Given the description of an element on the screen output the (x, y) to click on. 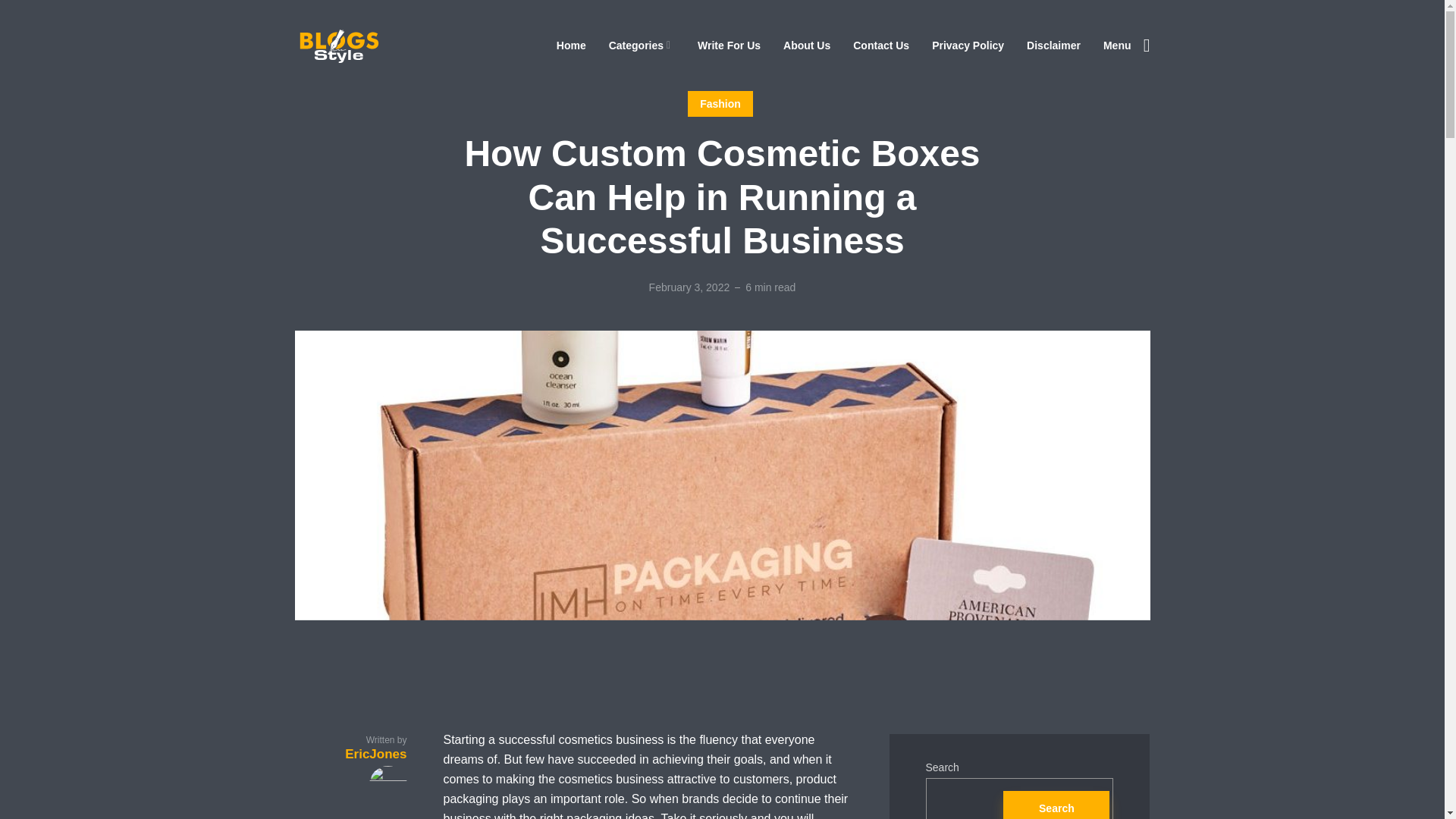
Write For Us (728, 45)
Categories (641, 45)
Menu (1126, 45)
Privacy Policy (967, 45)
Contact Us (880, 45)
About Us (806, 45)
Disclaimer (1053, 45)
